Given the description of an element on the screen output the (x, y) to click on. 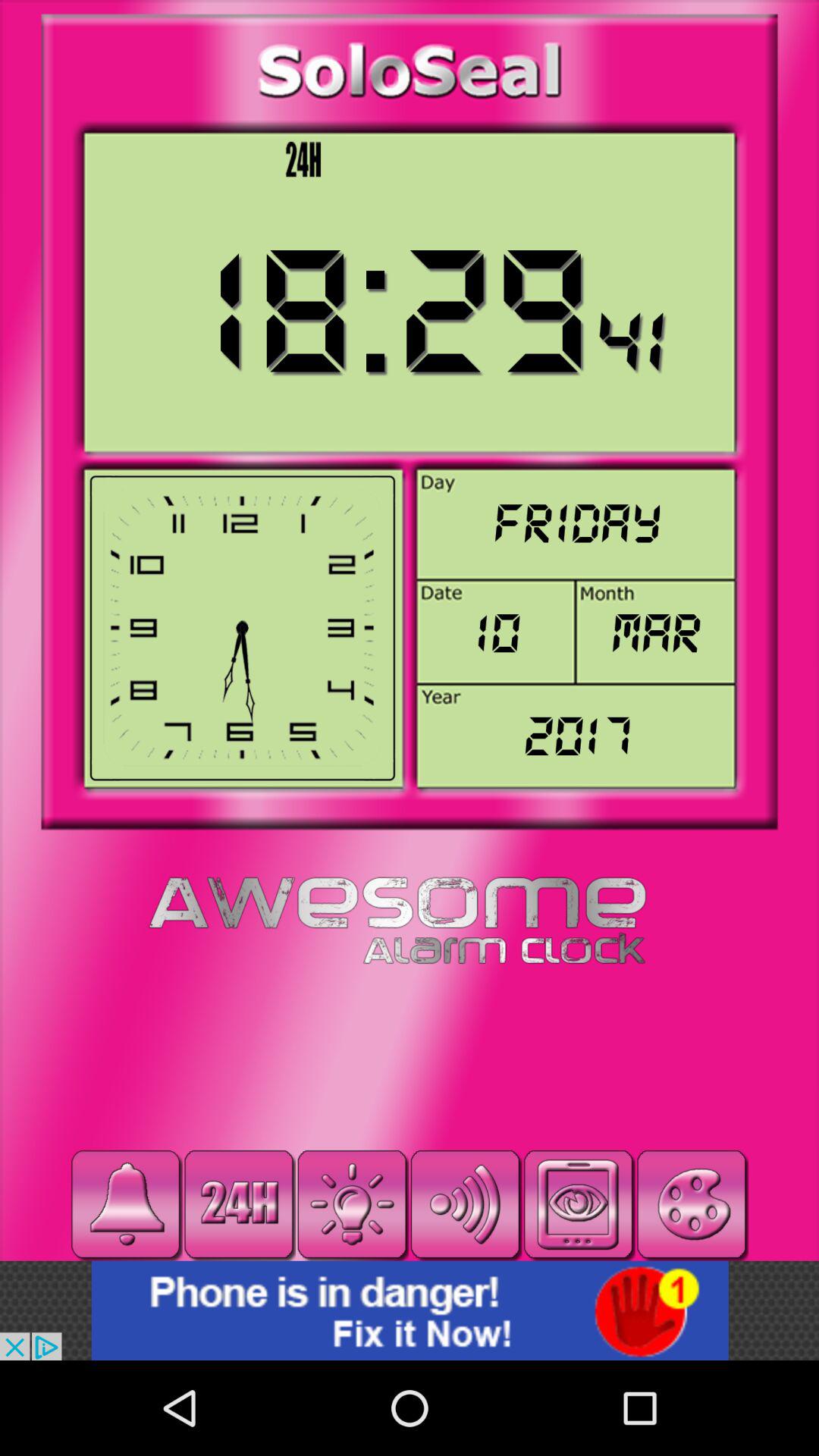
time format (238, 1203)
